Given the description of an element on the screen output the (x, y) to click on. 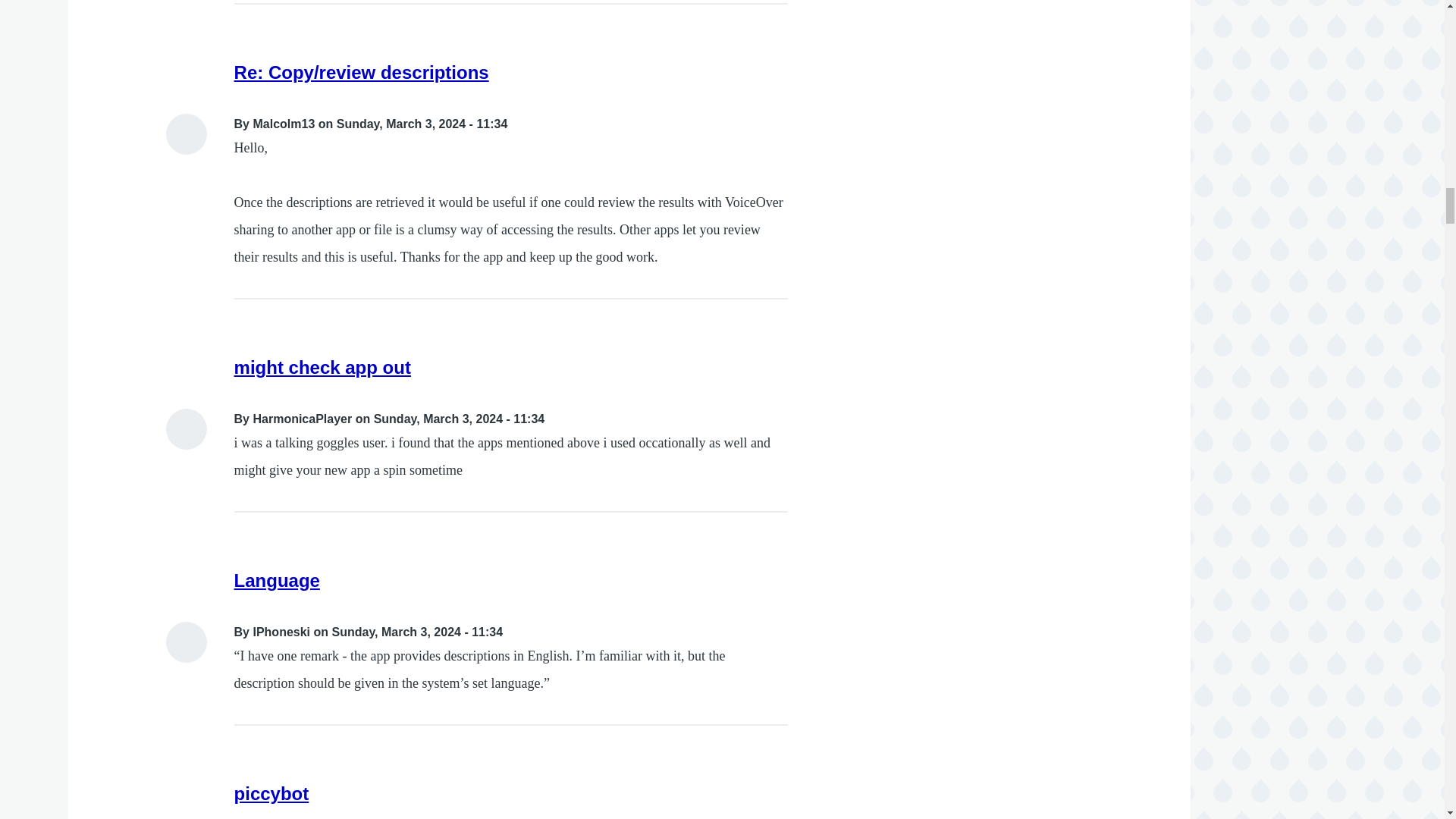
Language (277, 580)
might check app out (322, 367)
piccybot (271, 792)
